Given the description of an element on the screen output the (x, y) to click on. 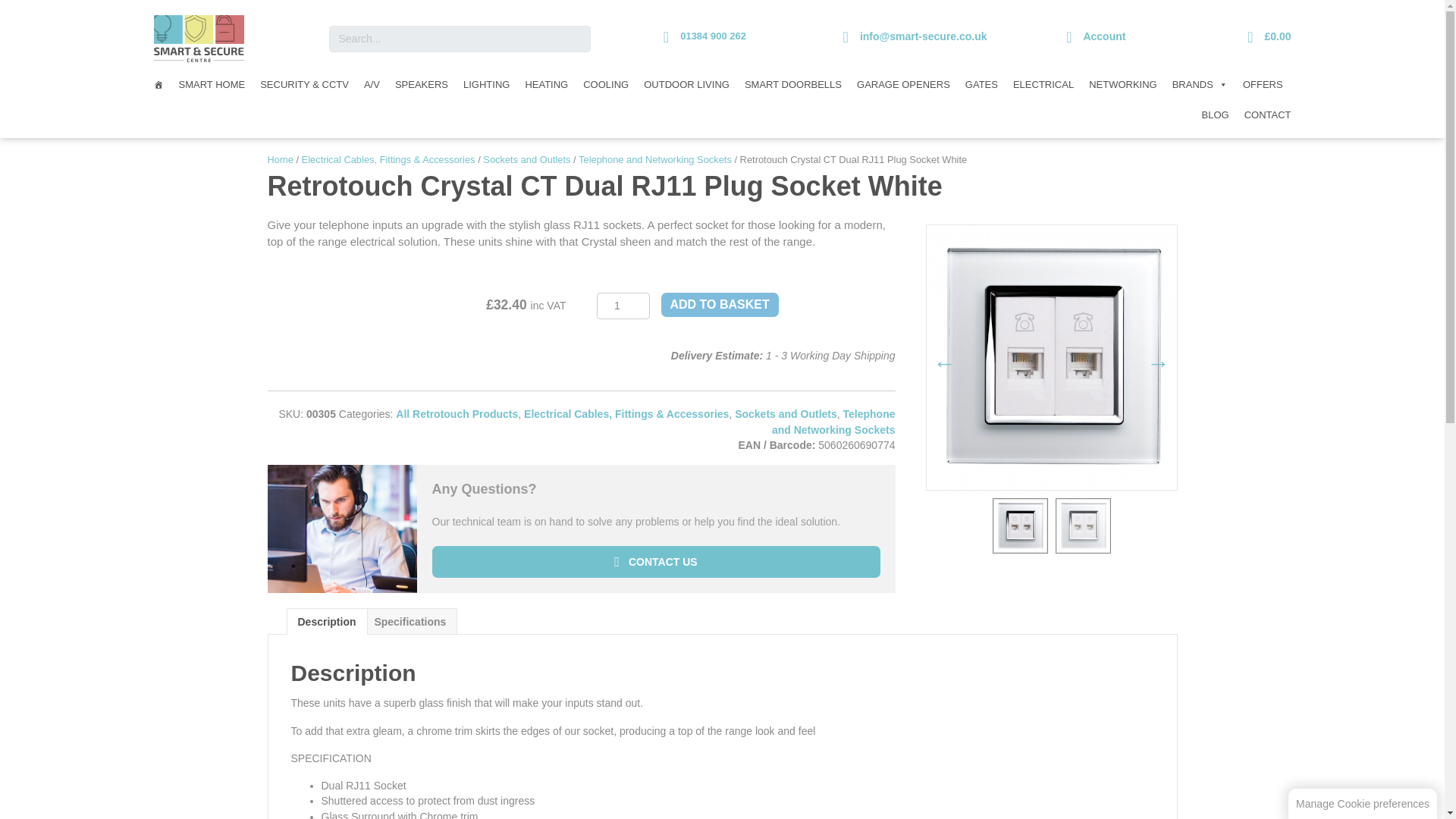
OUTDOOR LIVING (686, 84)
BRANDS (1199, 84)
SMART HOME (212, 84)
ELECTRICAL (1043, 84)
GATES (982, 84)
NETWORKING (1122, 84)
01384 900 262 (712, 36)
SMART DOORBELLS (792, 84)
HEATING (545, 84)
COOLING (605, 84)
Type and press Enter to search. (460, 38)
GARAGE OPENERS (903, 84)
SPEAKERS (421, 84)
Account (1104, 36)
LIGHTING (485, 84)
